Given the description of an element on the screen output the (x, y) to click on. 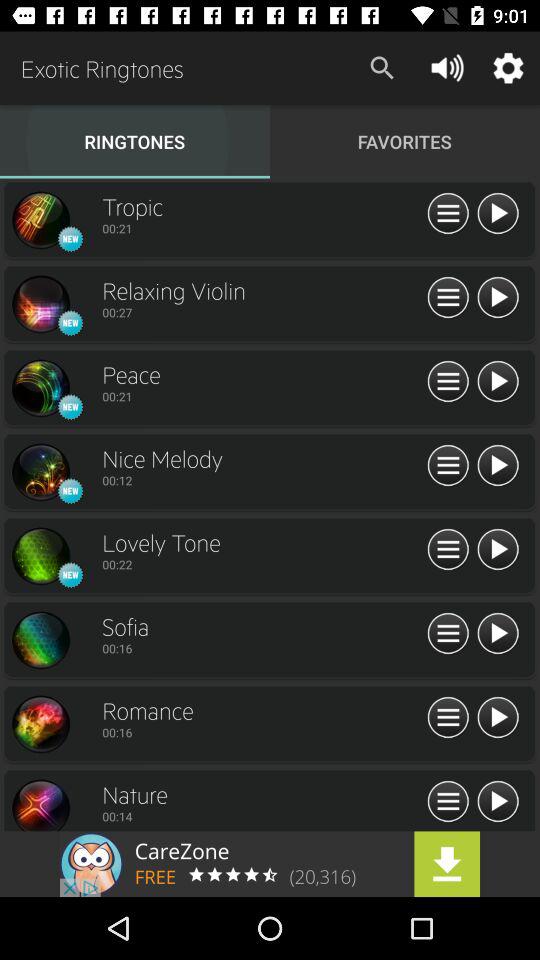
see the image (40, 724)
